Given the description of an element on the screen output the (x, y) to click on. 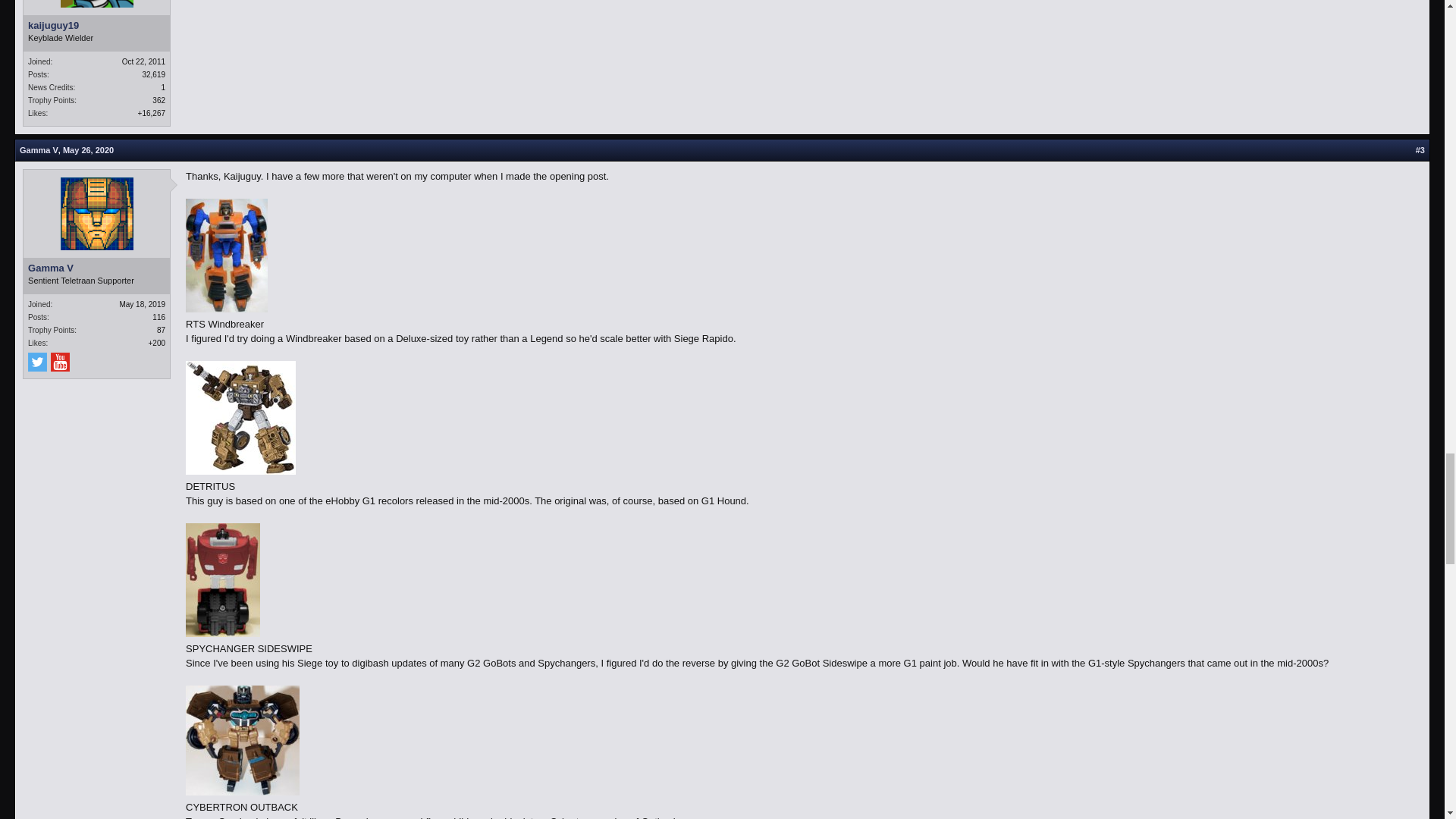
Permalink (87, 149)
Permalink (1420, 150)
